Given the description of an element on the screen output the (x, y) to click on. 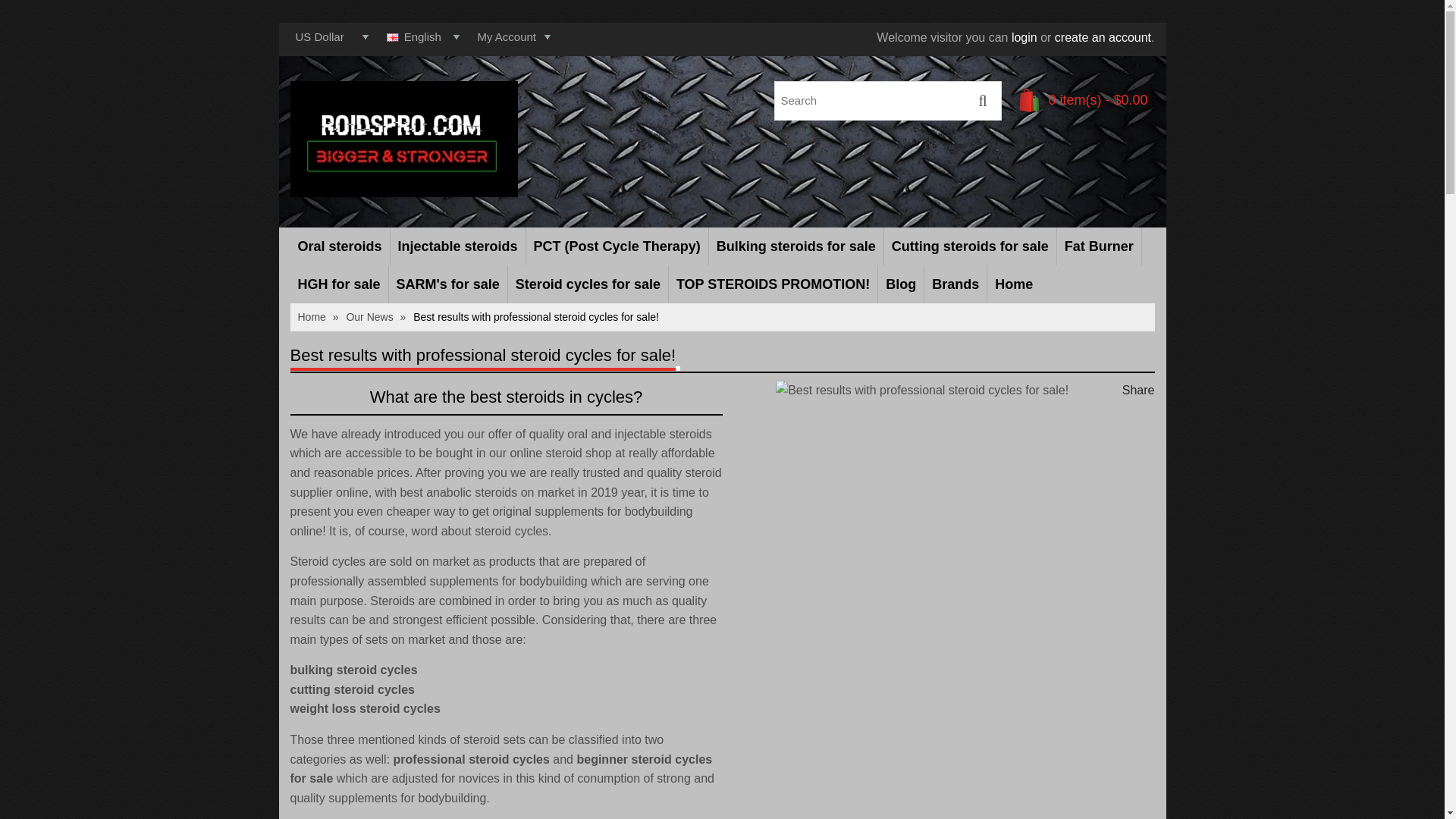
roidspro.com - Real and best steroids online shop! (402, 139)
Injectable steroids (457, 246)
Oral steroids (338, 246)
